Given the description of an element on the screen output the (x, y) to click on. 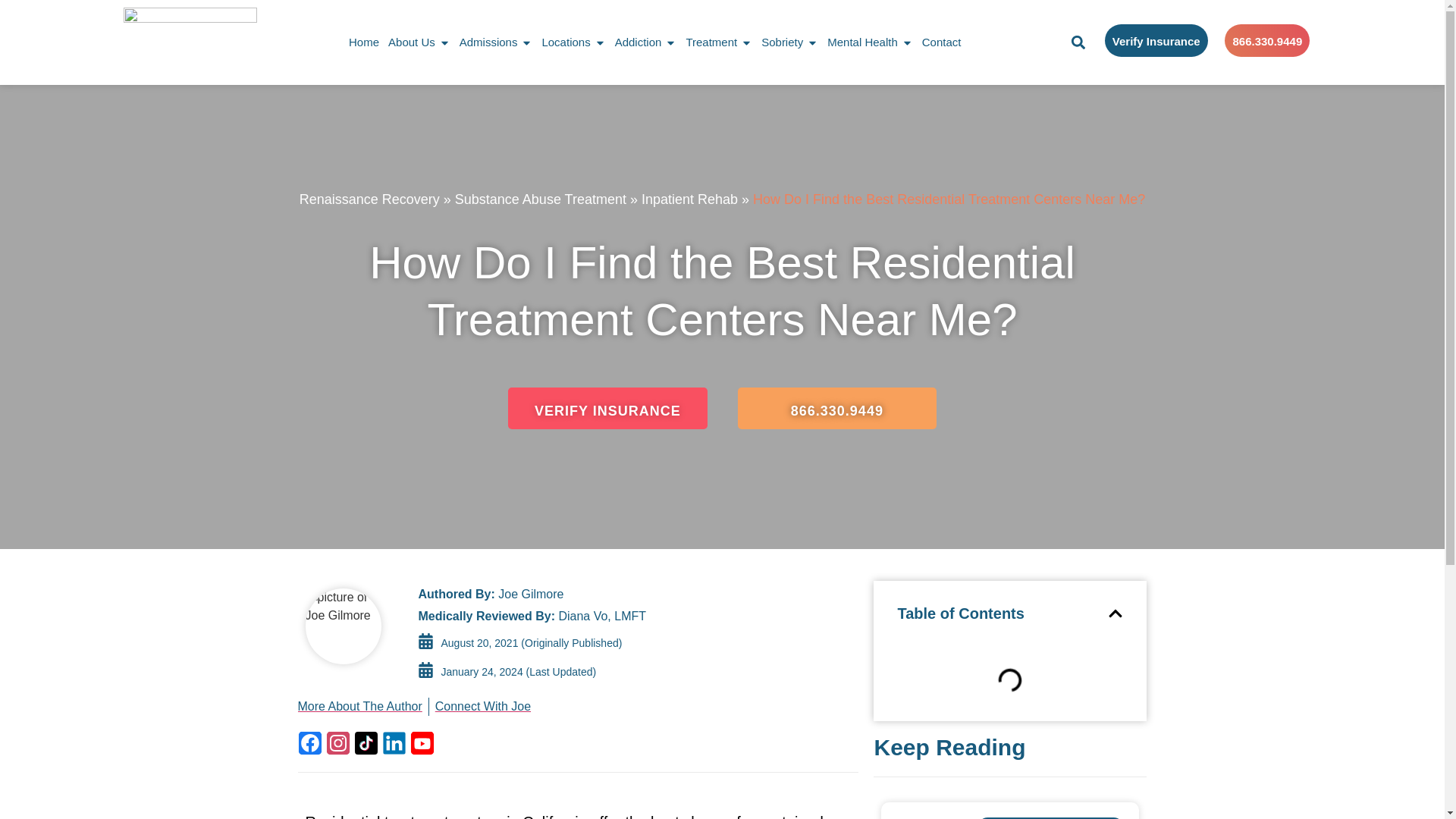
Home (363, 42)
Admissions (489, 42)
About Us (411, 42)
